Given the description of an element on the screen output the (x, y) to click on. 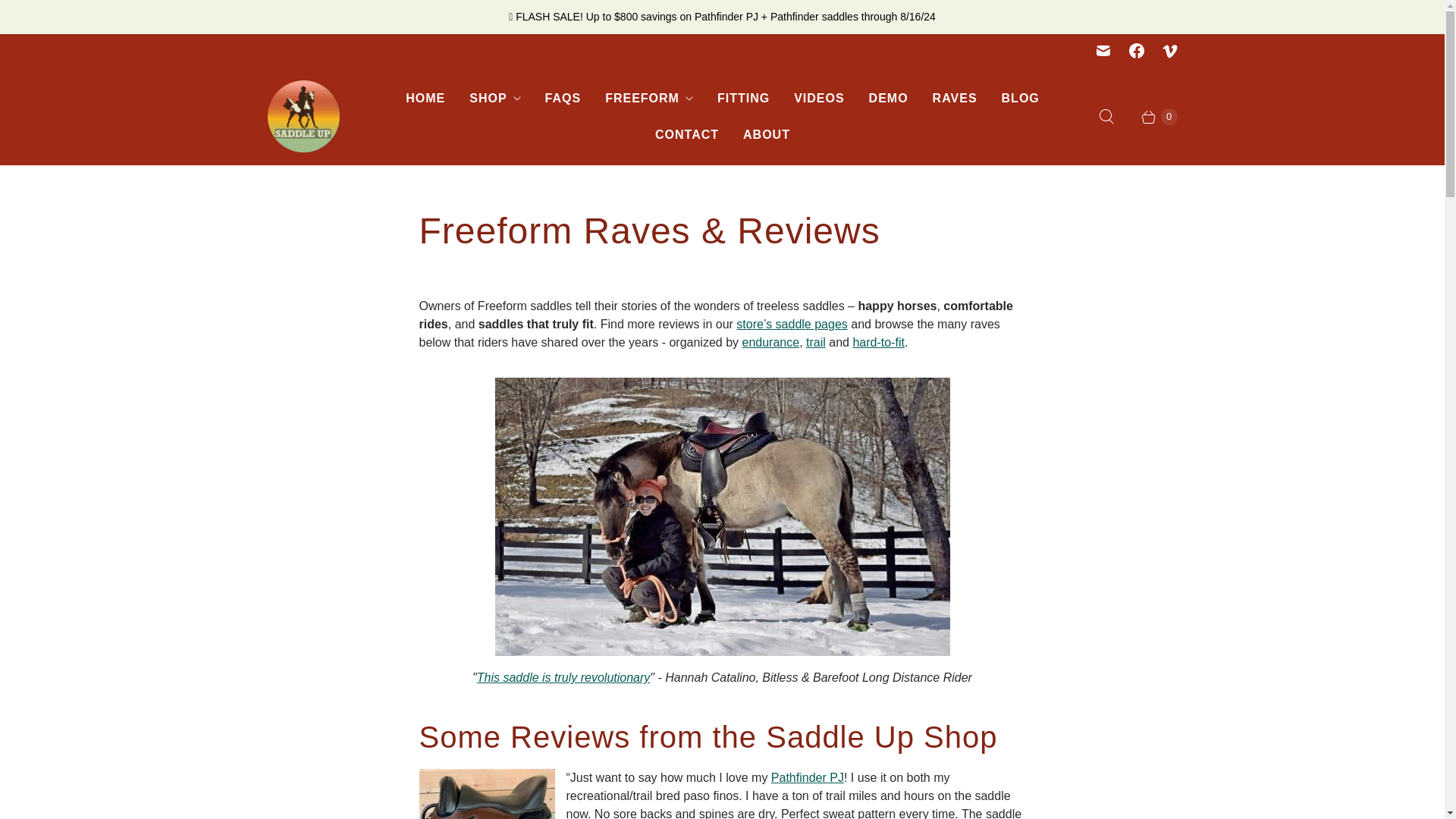
CONTACT (686, 135)
FAQS (563, 98)
FITTING (742, 98)
0 (1151, 116)
HOME (425, 98)
See Raves from Hard-to-fit Horses. (877, 341)
ABOUT (766, 135)
VIDEOS (818, 98)
BLOG (1020, 98)
DEMO (888, 98)
RAVES (955, 98)
See Raves from Endurance Riders (770, 341)
See Raves from Trail Riders. (815, 341)
